Given the description of an element on the screen output the (x, y) to click on. 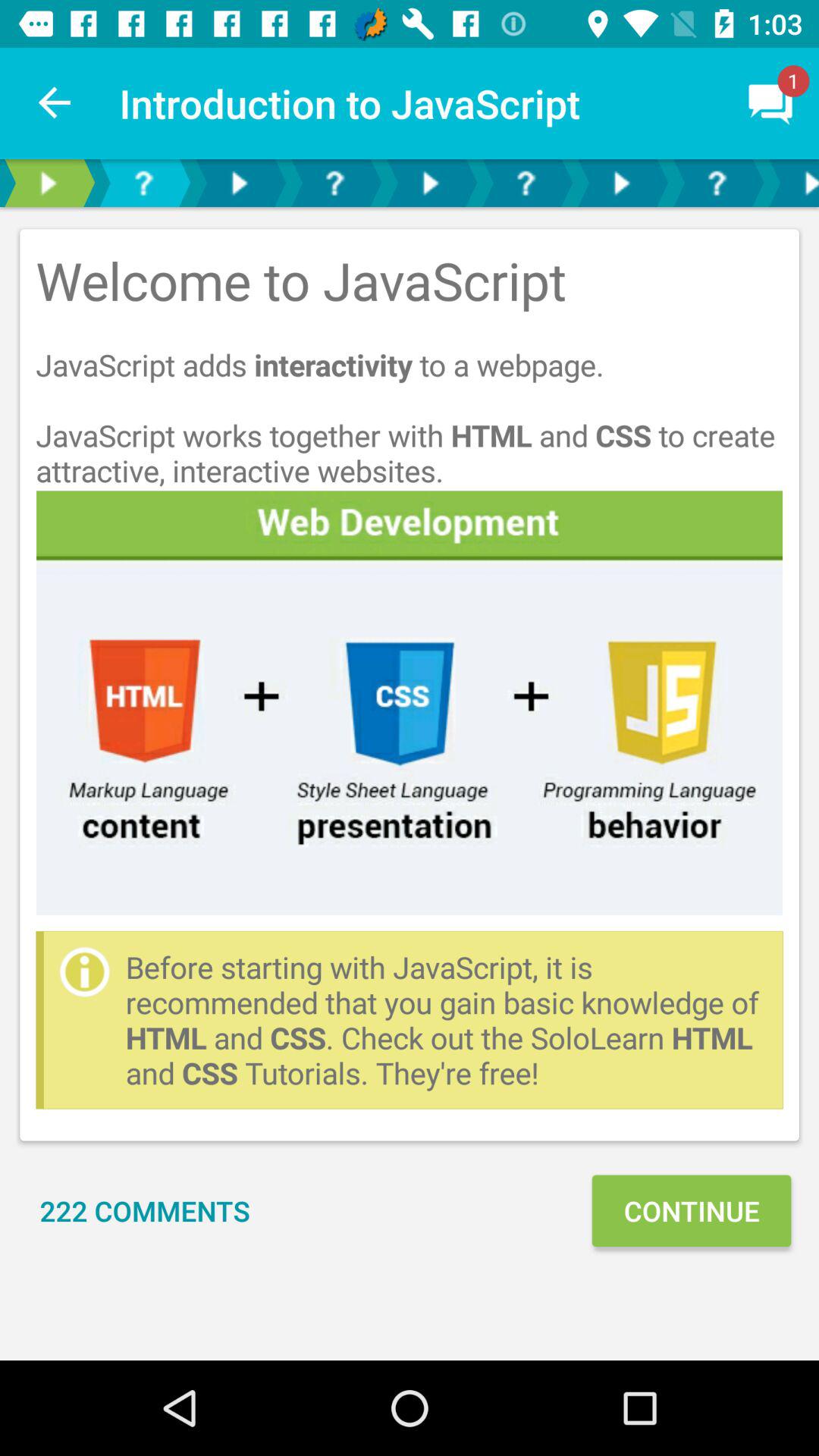
skip to button (525, 183)
